Given the description of an element on the screen output the (x, y) to click on. 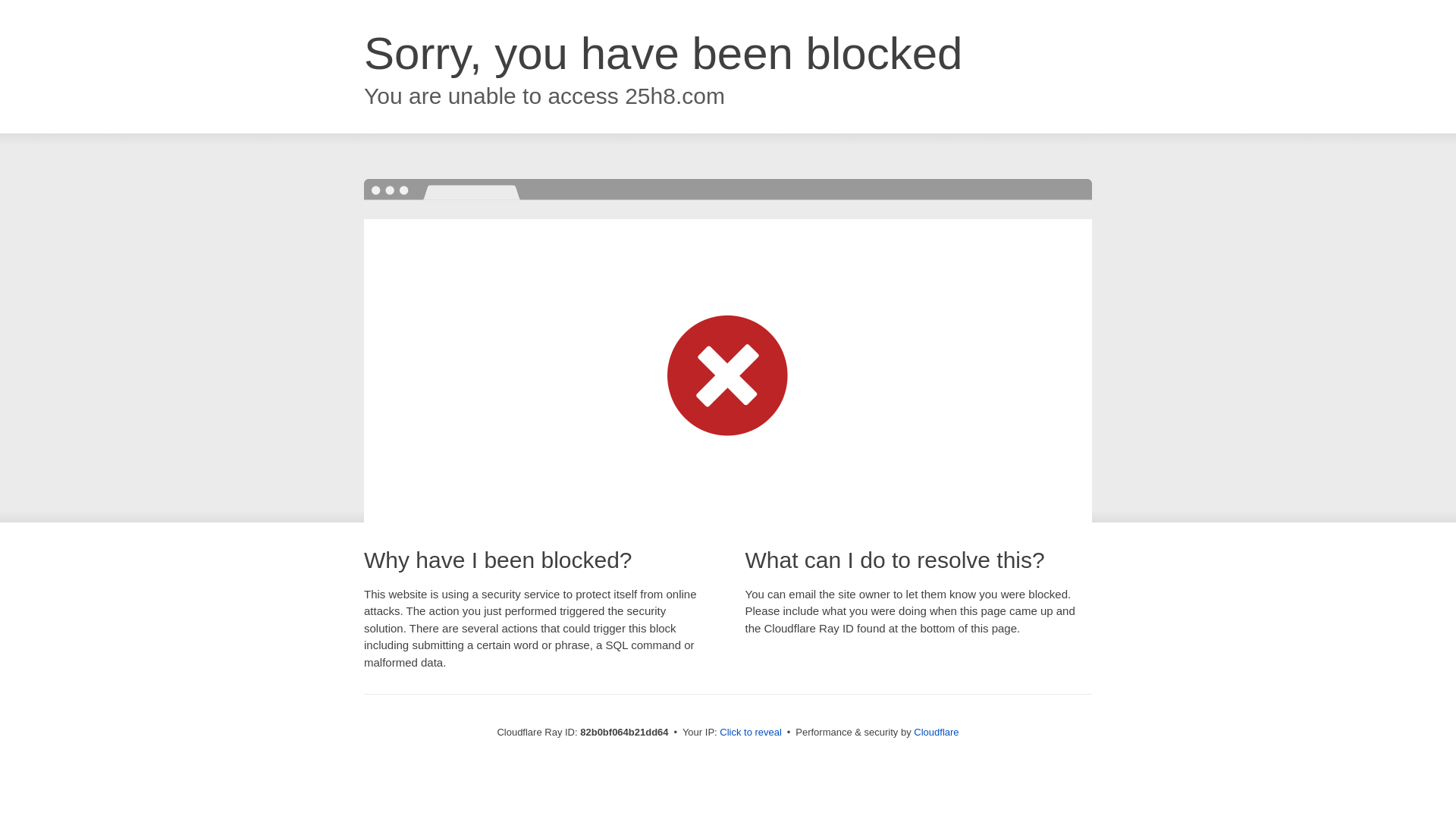
Click to reveal Element type: text (750, 732)
Cloudflare Element type: text (935, 731)
